Given the description of an element on the screen output the (x, y) to click on. 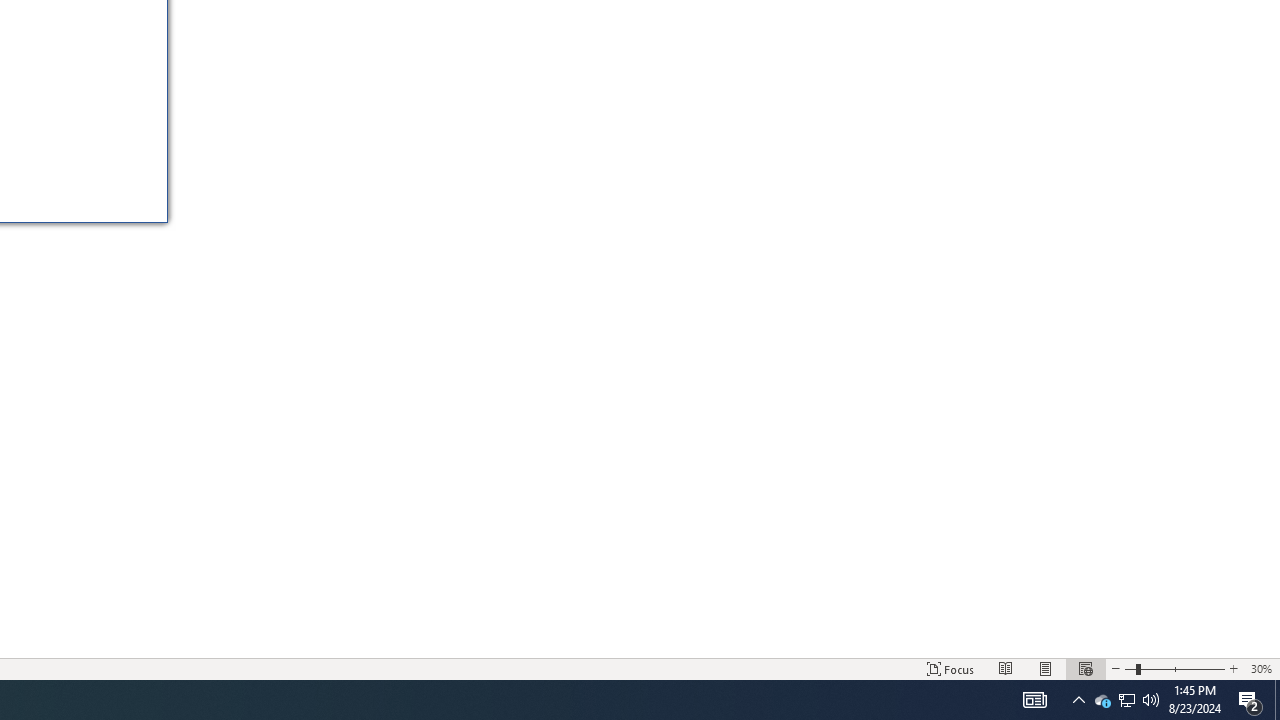
Zoom 30% (1261, 668)
